Given the description of an element on the screen output the (x, y) to click on. 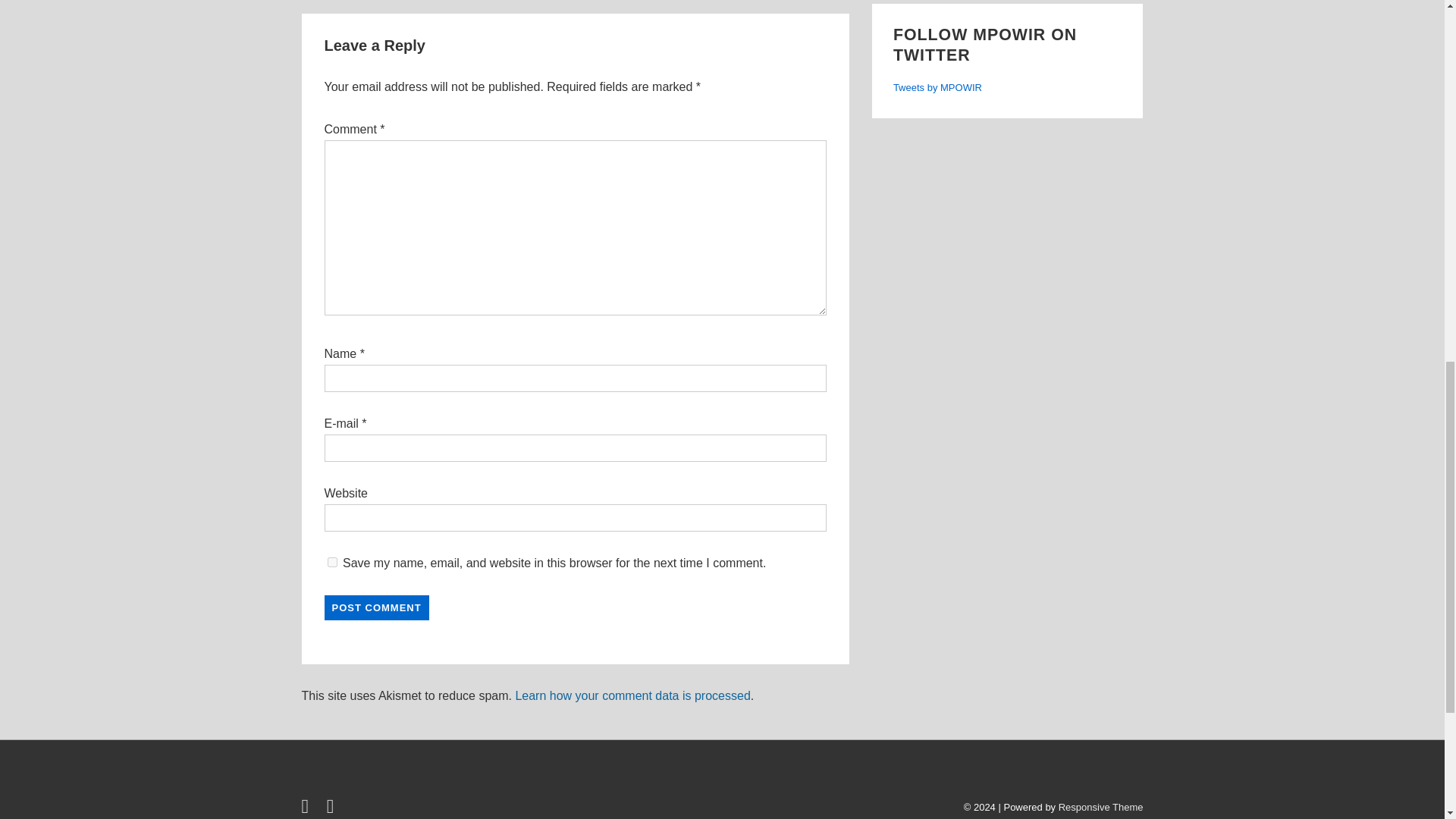
yes (332, 562)
twitter (308, 808)
linkedin (331, 808)
Post Comment (376, 607)
